Given the description of an element on the screen output the (x, y) to click on. 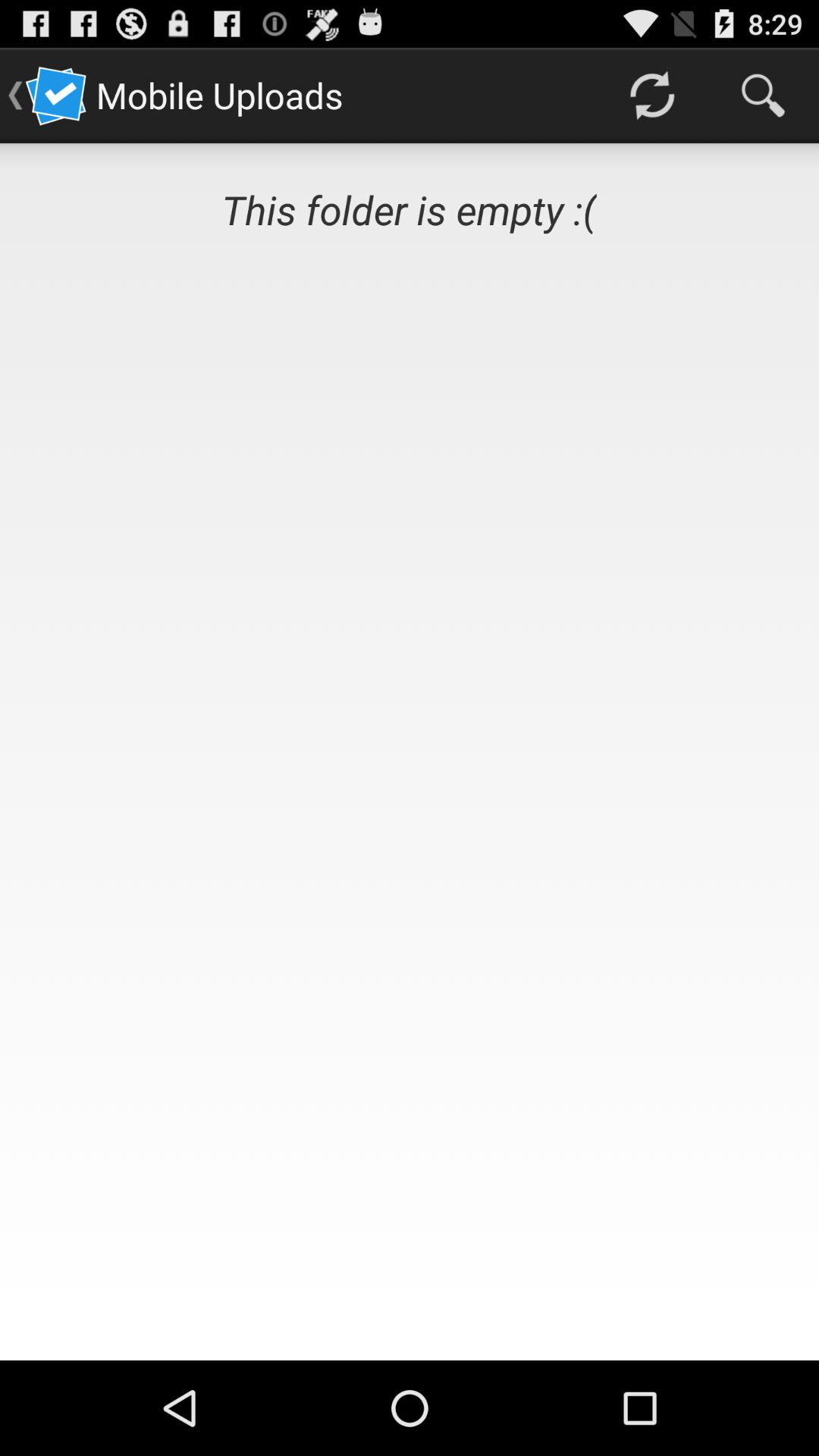
open the app next to the mobile uploads (651, 95)
